Given the description of an element on the screen output the (x, y) to click on. 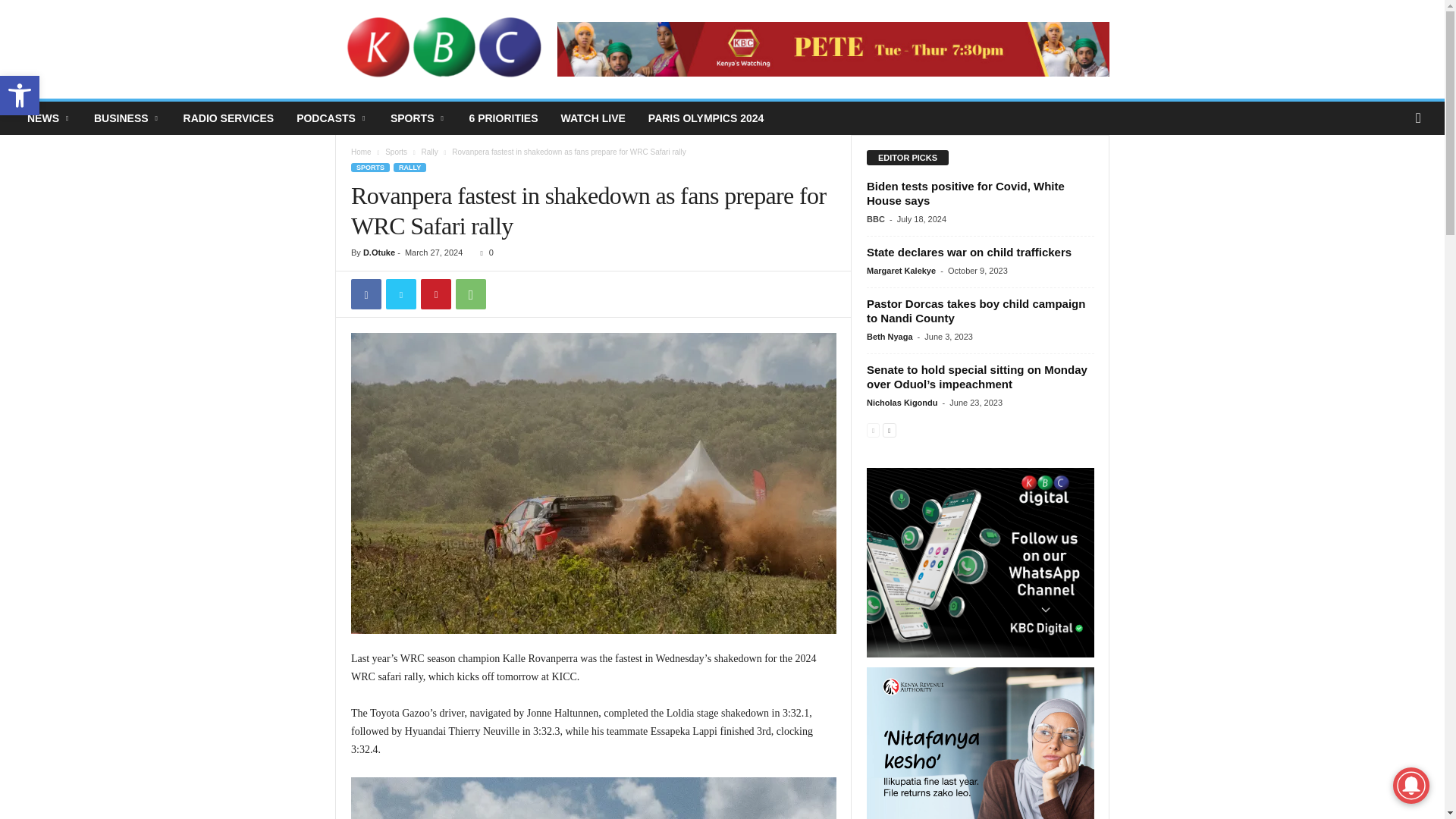
Accessibility Tools (19, 95)
Accessibility Tools (19, 95)
